Given the description of an element on the screen output the (x, y) to click on. 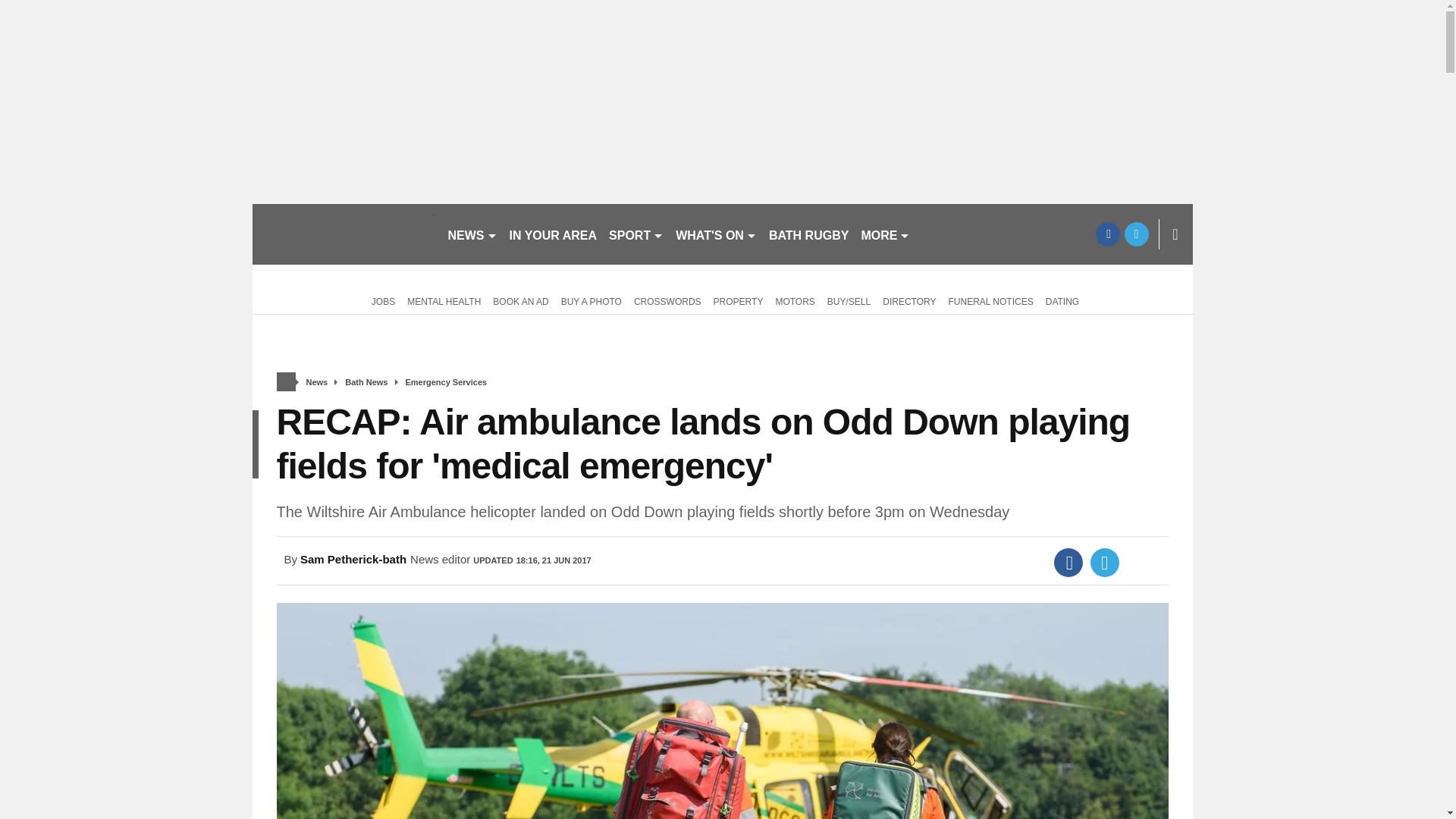
facebook (1106, 233)
JOBS (380, 300)
Facebook (1068, 562)
twitter (1136, 233)
WHAT'S ON (715, 233)
BUY A PHOTO (590, 300)
NEWS (471, 233)
BOOK AN AD (520, 300)
BATH RUGBY (808, 233)
SPORT (635, 233)
